Given the description of an element on the screen output the (x, y) to click on. 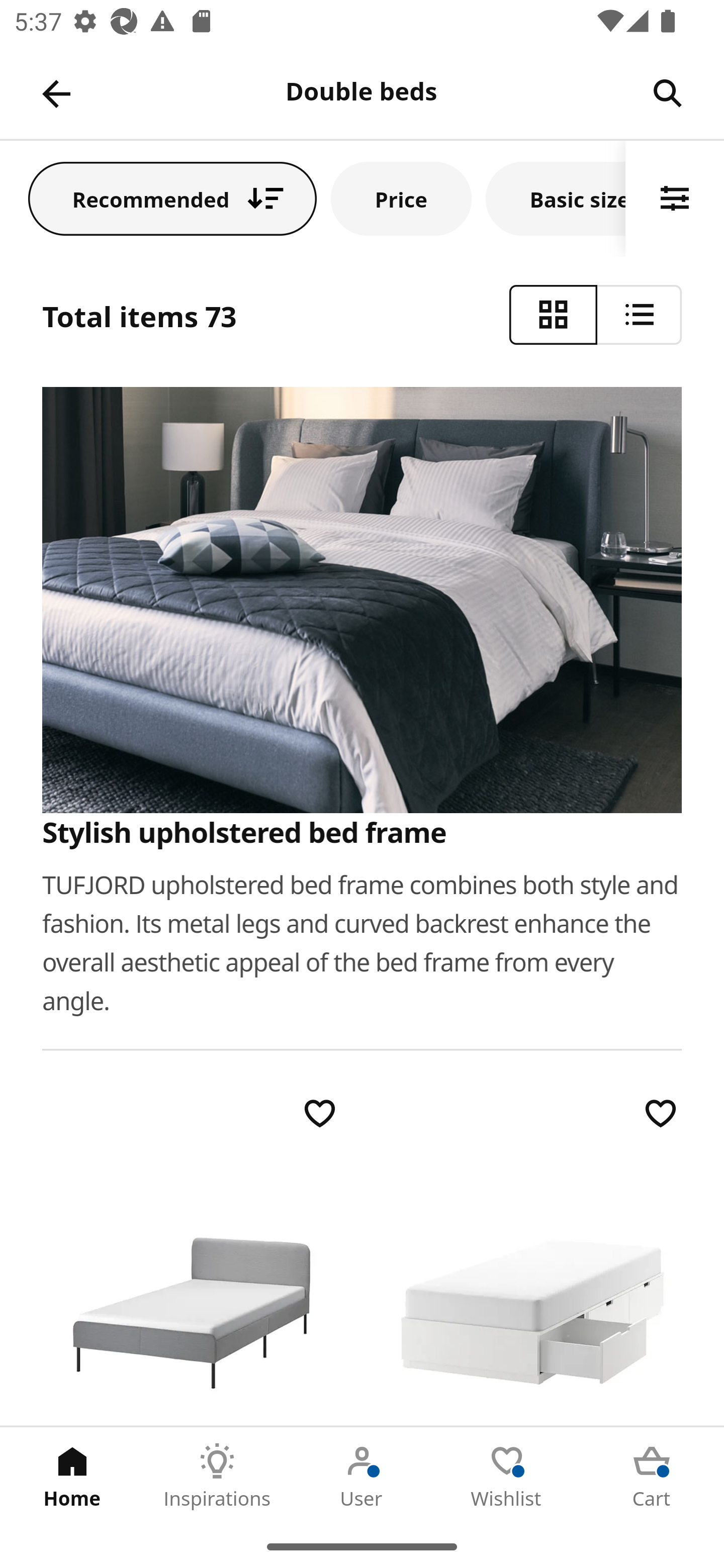
Recommended (172, 198)
Price (400, 198)
Basic sizes (555, 198)
Home
Tab 1 of 5 (72, 1476)
Inspirations
Tab 2 of 5 (216, 1476)
User
Tab 3 of 5 (361, 1476)
Wishlist
Tab 4 of 5 (506, 1476)
Cart
Tab 5 of 5 (651, 1476)
